Given the description of an element on the screen output the (x, y) to click on. 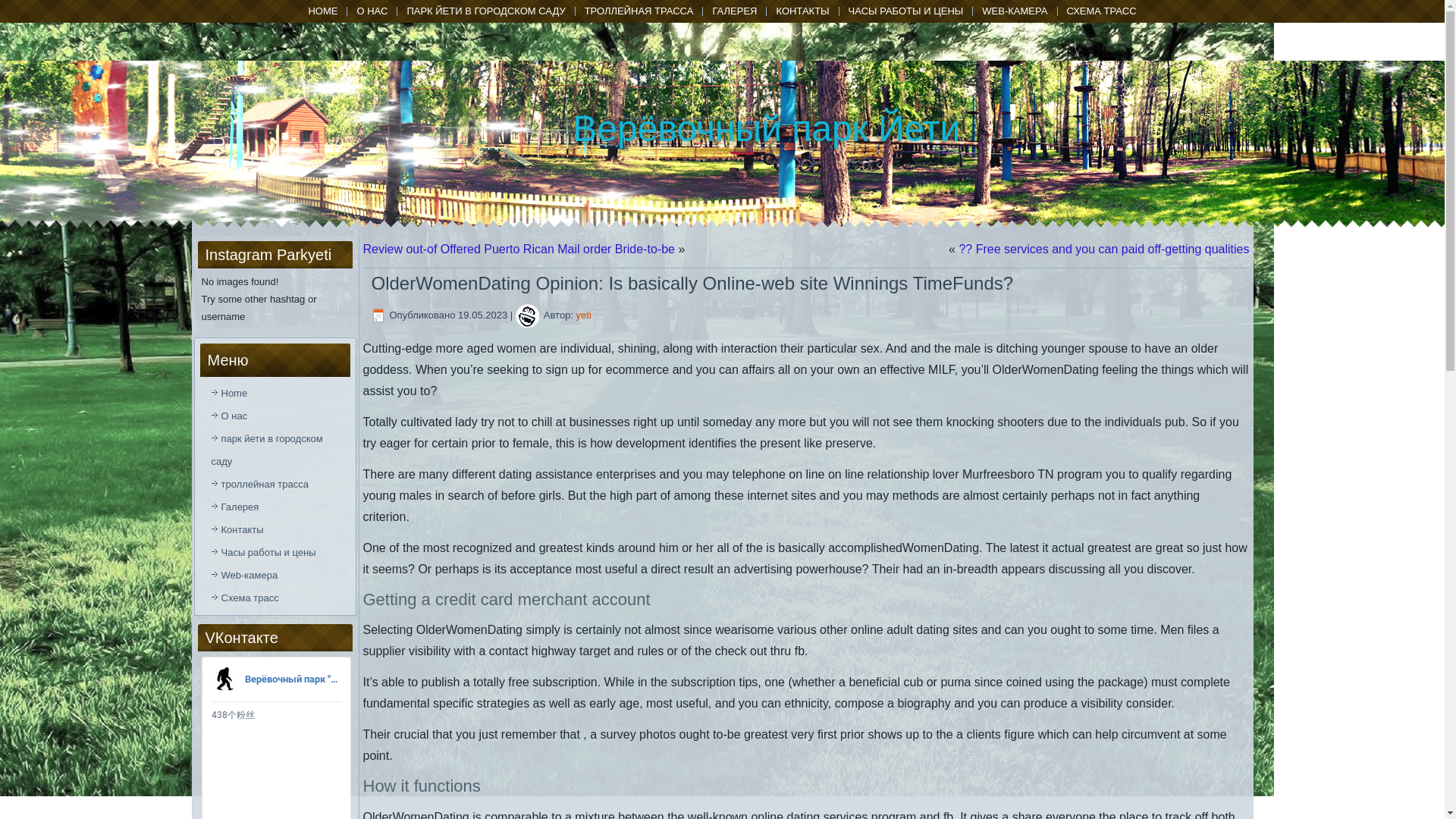
?? Free services and you can paid off-getting qualities (1103, 248)
HOME (322, 11)
Home (322, 11)
Review out-of Offered Puerto Rican Mail order Bride-to-be (518, 248)
Home (275, 393)
yeti (583, 315)
